Given the description of an element on the screen output the (x, y) to click on. 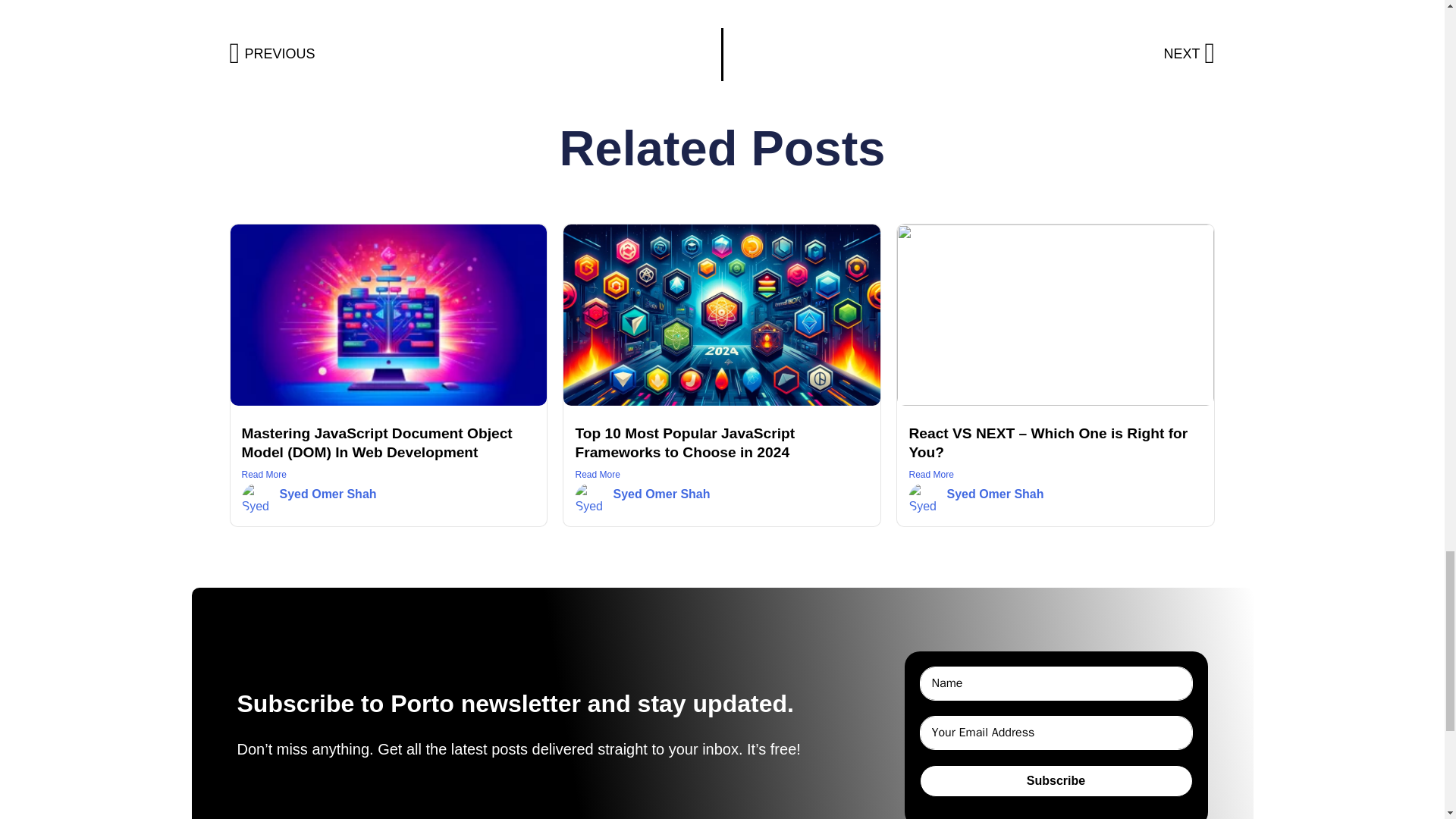
Read More (388, 474)
Read More (722, 474)
Read More (474, 54)
Syed Omer Shah (969, 54)
Syed Omer Shah (1055, 474)
Top 10 Most Popular JavaScript Frameworks to Choose in 2024 (661, 493)
